Given the description of an element on the screen output the (x, y) to click on. 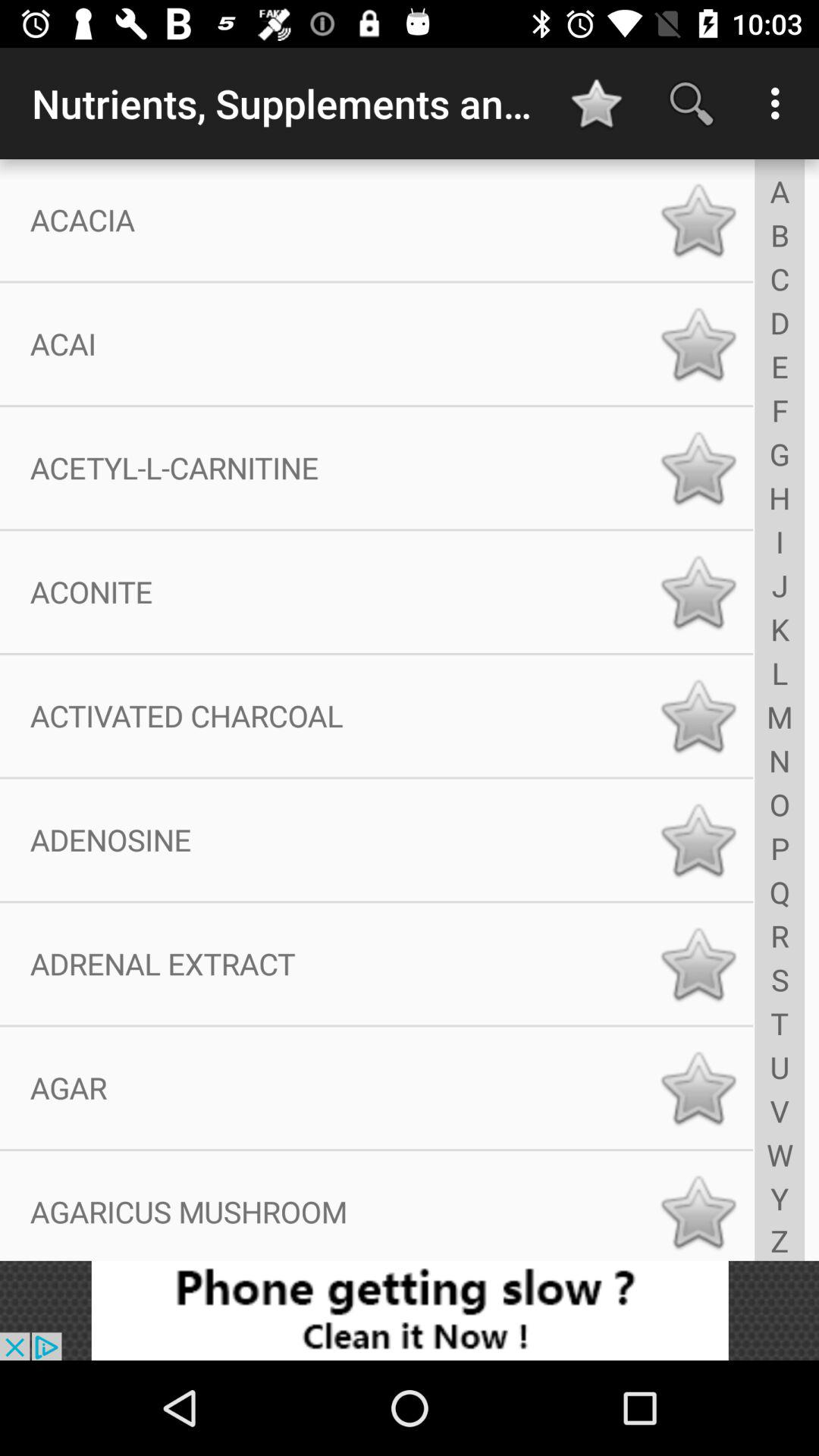
add to favorites (697, 839)
